Given the description of an element on the screen output the (x, y) to click on. 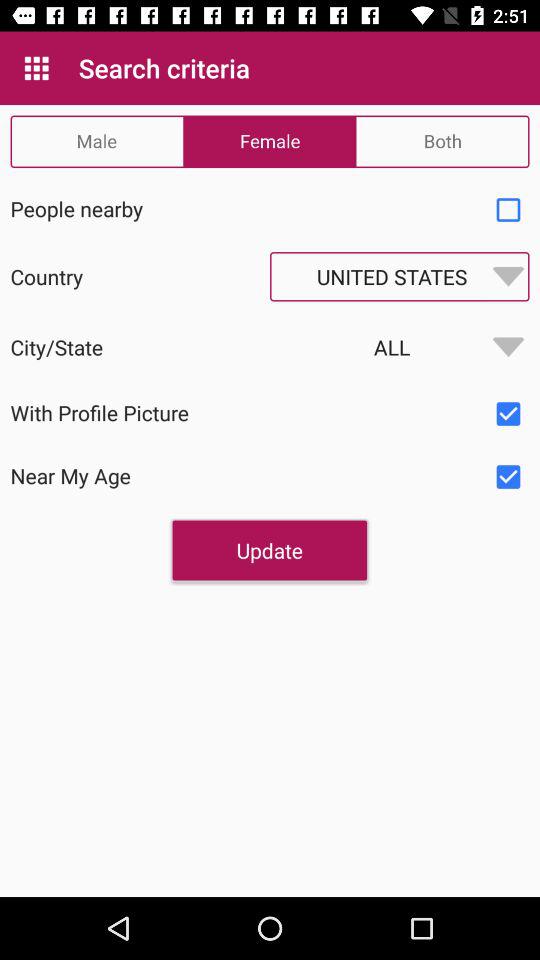
check/uncheck box (508, 414)
